Given the description of an element on the screen output the (x, y) to click on. 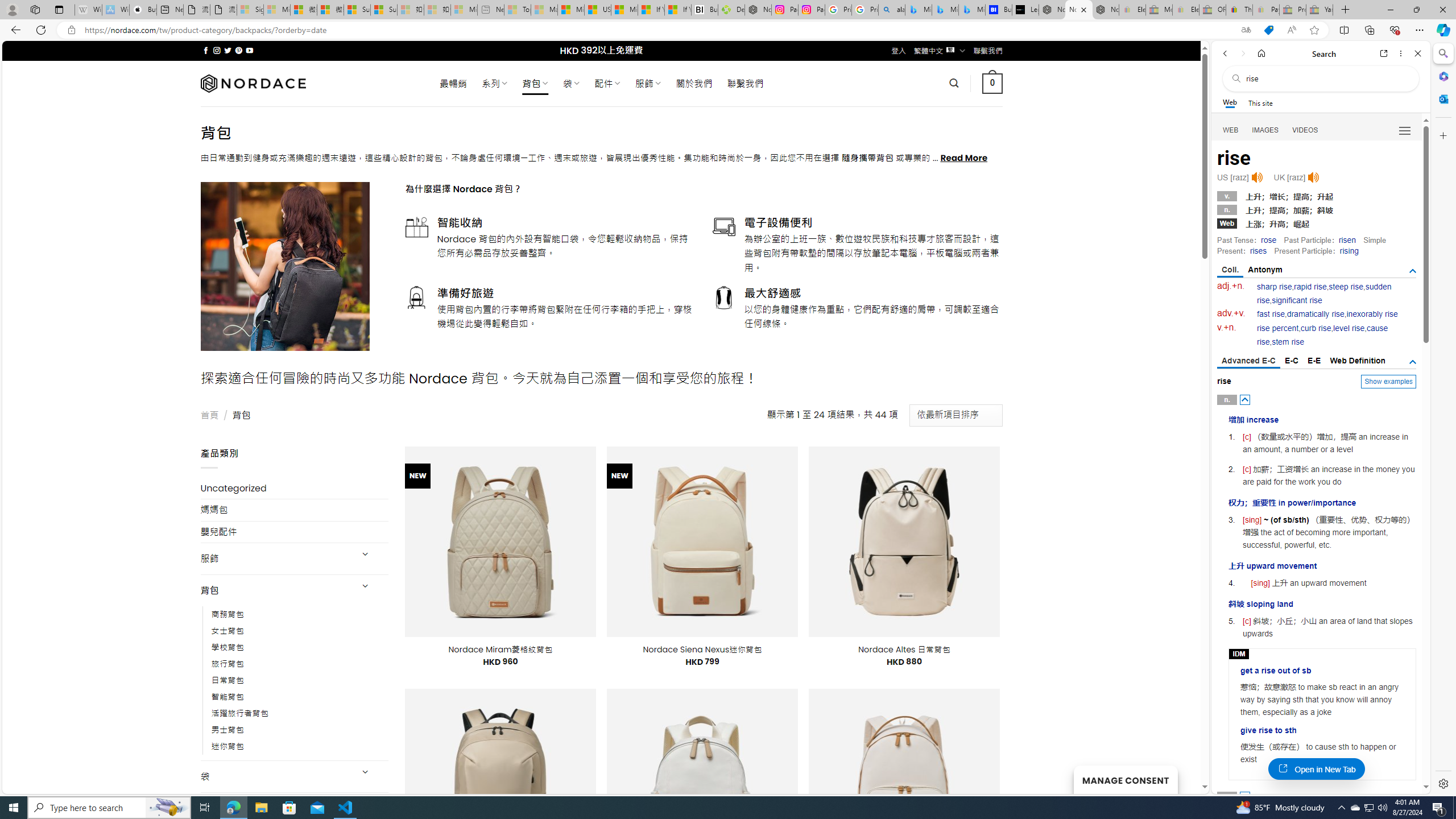
Antonym (1265, 269)
AutomationID: posbtn_0 (1245, 399)
Yard, Garden & Outdoor Living - Sleeping (1319, 9)
fast rise (1270, 313)
